Given the description of an element on the screen output the (x, y) to click on. 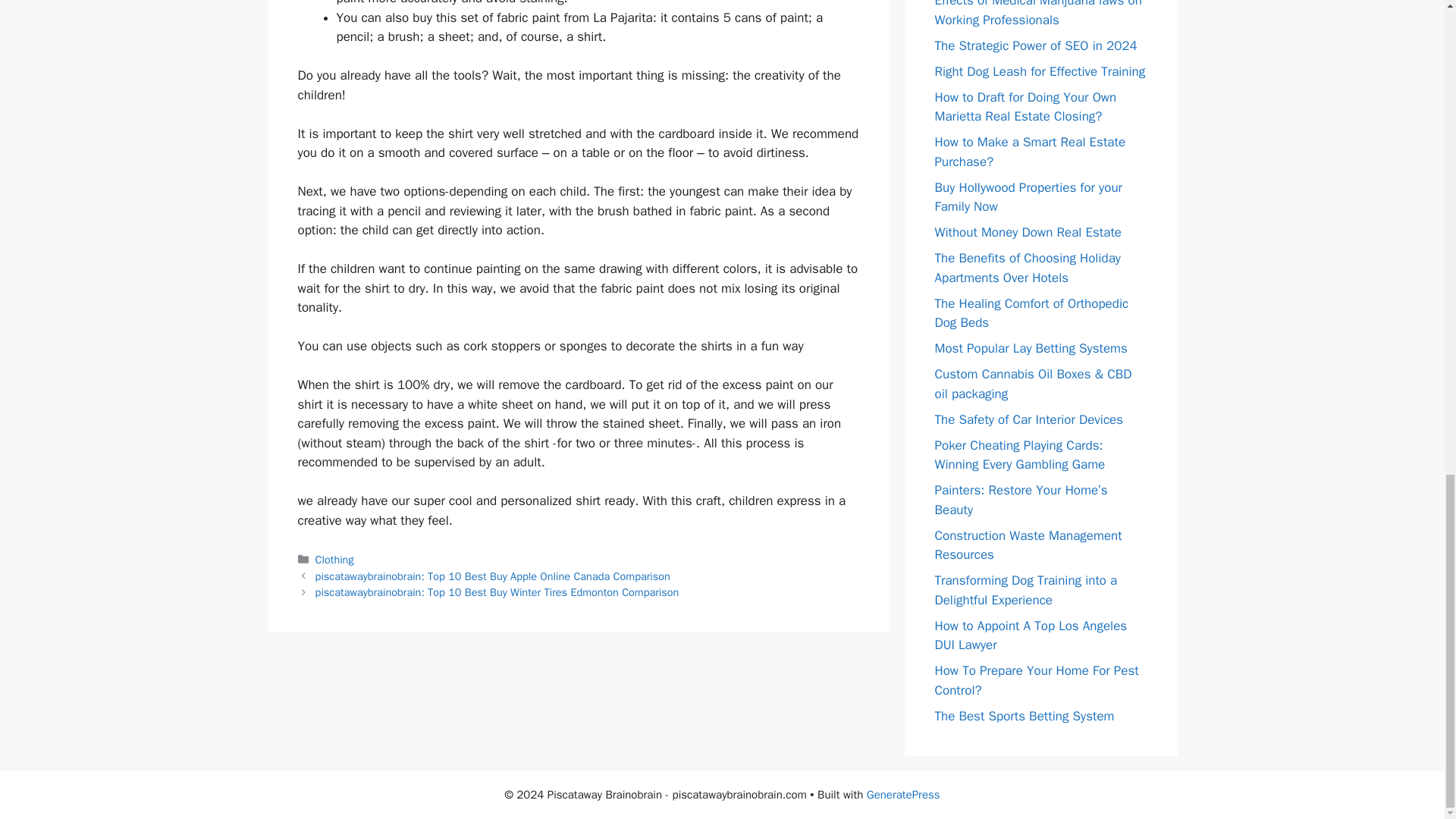
How to Make a Smart Real Estate Purchase? (1029, 151)
Effects of Medical Marijuana laws on Working Professionals (1037, 13)
Clothing (334, 559)
The Benefits of Choosing Holiday Apartments Over Hotels (1026, 267)
Without Money Down Real Estate (1027, 232)
Next (497, 591)
The Strategic Power of SEO in 2024 (1035, 45)
Most Popular Lay Betting Systems (1030, 348)
Buy Hollywood Properties for your Family Now (1028, 196)
The Healing Comfort of Orthopedic Dog Beds (1031, 313)
Right Dog Leash for Effective Training (1039, 71)
Previous (492, 576)
